Given the description of an element on the screen output the (x, y) to click on. 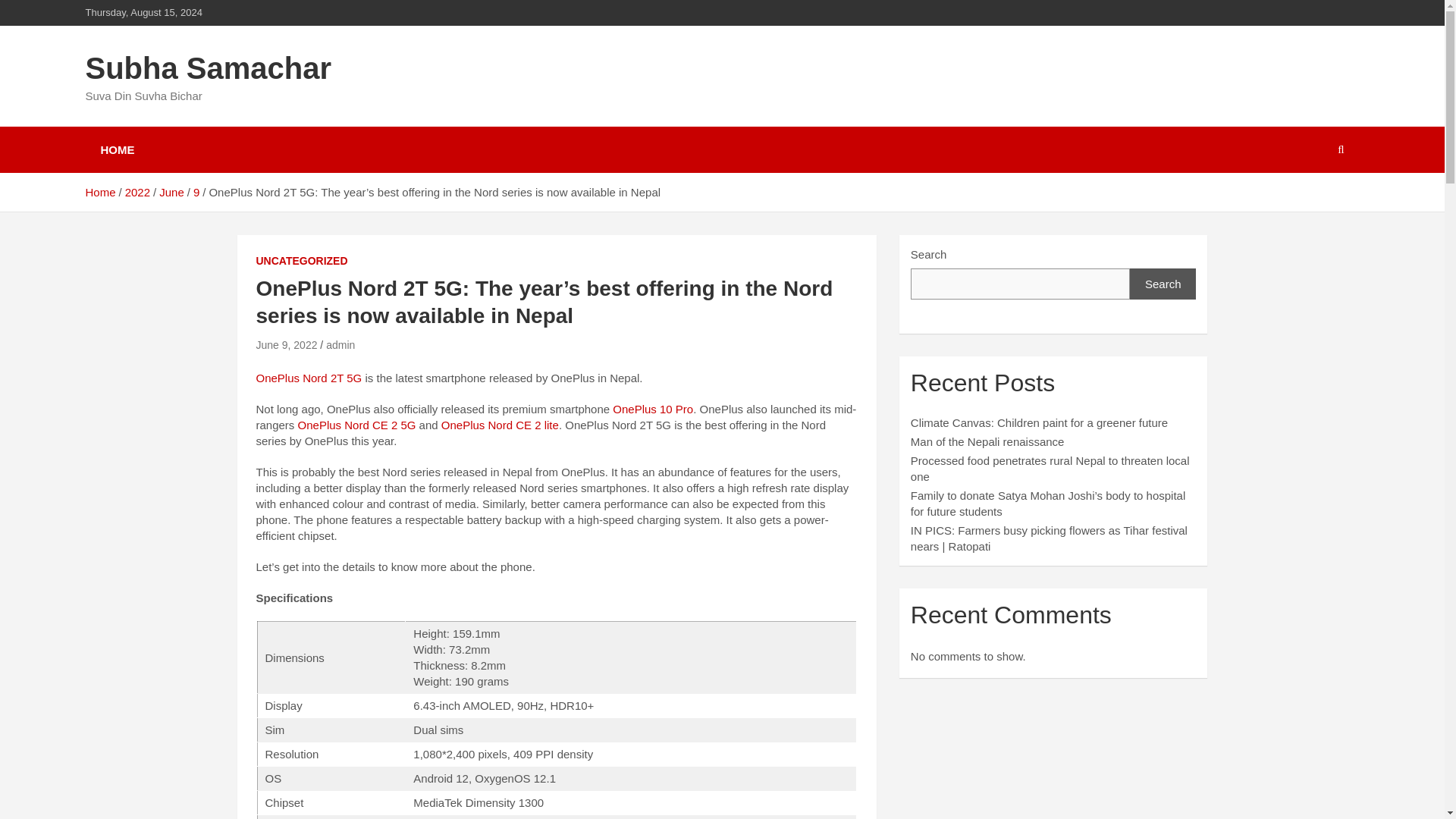
admin (340, 345)
UNCATEGORIZED (301, 261)
Search (1162, 283)
OnePlus 10 Pro (652, 408)
Subha Samachar (207, 68)
OnePlus Nord CE 2 lite (500, 424)
OnePlus Nord CE 2 5G (358, 424)
Home (99, 192)
June (171, 192)
2022 (137, 192)
